Given the description of an element on the screen output the (x, y) to click on. 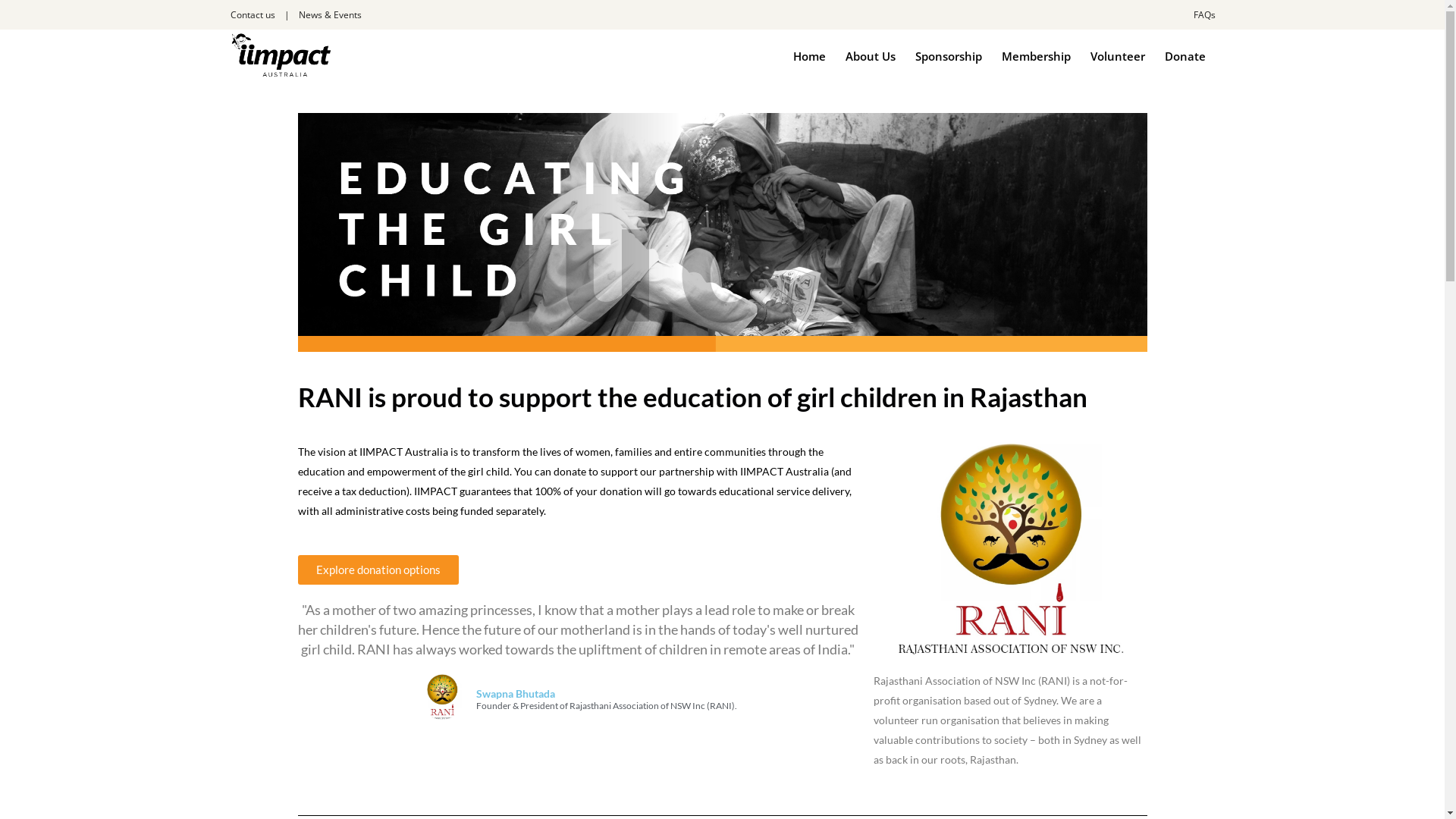
Explore donation options Element type: text (377, 569)
Membership Element type: text (1035, 55)
Sponsorship Element type: text (948, 55)
News & Events Element type: text (329, 14)
Contact us Element type: text (252, 14)
Headers-EGC2 Element type: hover (721, 231)
About Us Element type: text (870, 55)
Home Element type: text (808, 55)
FAQs Element type: text (1204, 14)
Volunteer Element type: text (1116, 55)
Donate Element type: text (1184, 55)
